Given the description of an element on the screen output the (x, y) to click on. 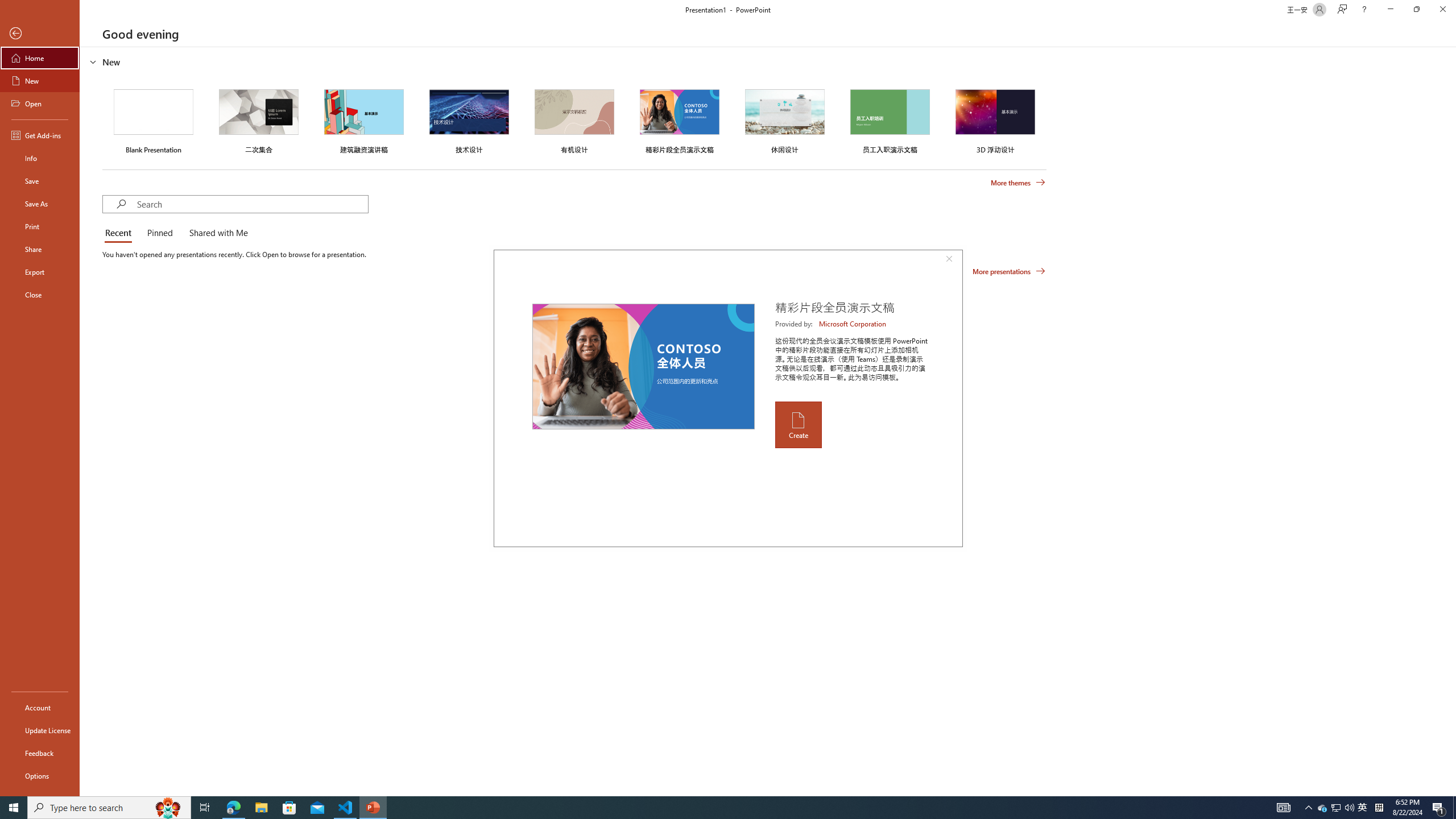
Save As (40, 203)
Print (40, 225)
Pinned (159, 233)
Create (797, 424)
Shared with Me (215, 233)
Options (40, 775)
Account (40, 707)
